Given the description of an element on the screen output the (x, y) to click on. 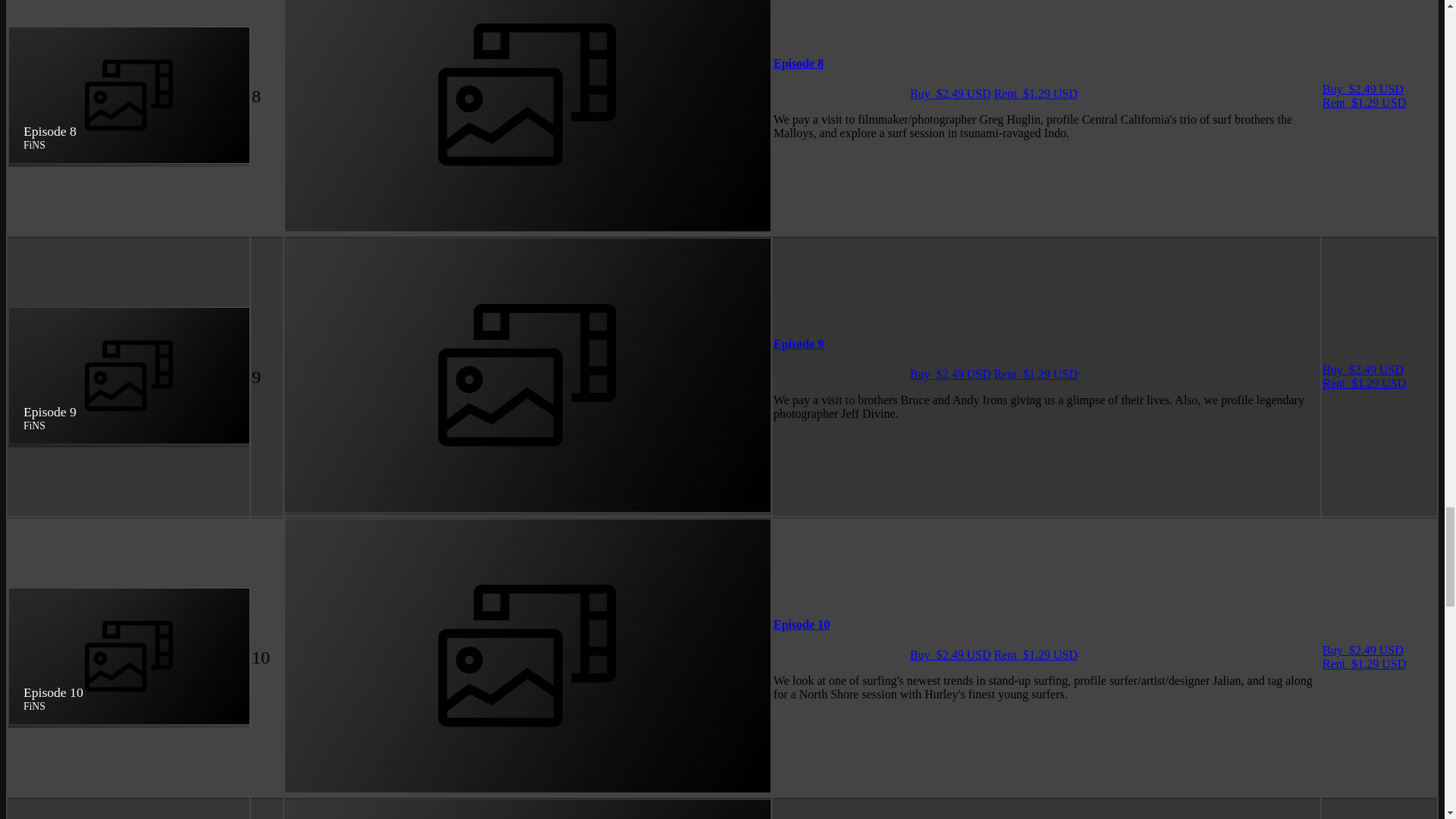
Episode  9 (798, 343)
Episode  10 (801, 624)
Episode  8 (798, 62)
